Given the description of an element on the screen output the (x, y) to click on. 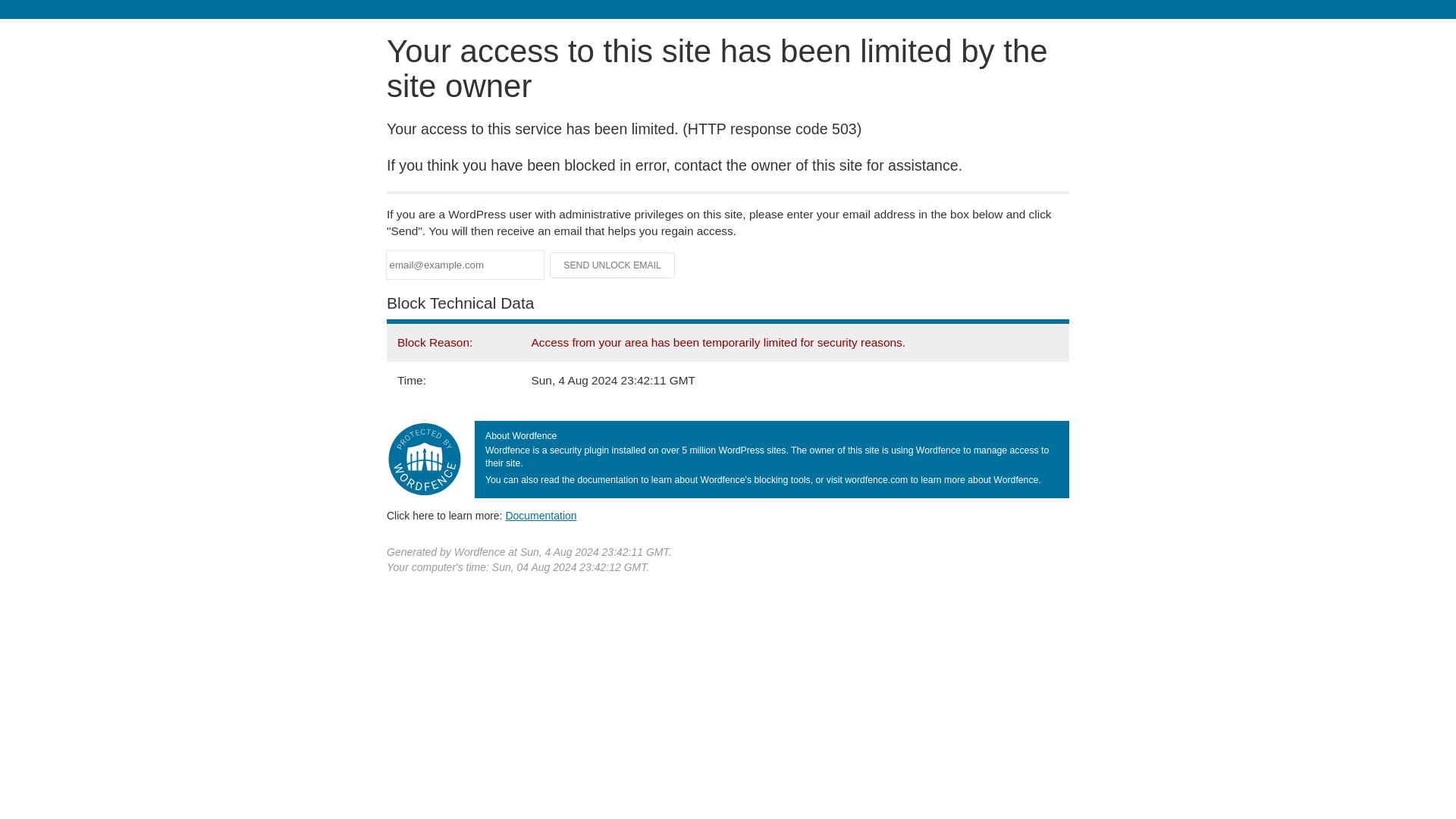
Documentation (540, 515)
Send Unlock Email (612, 265)
Send Unlock Email (612, 265)
